Given the description of an element on the screen output the (x, y) to click on. 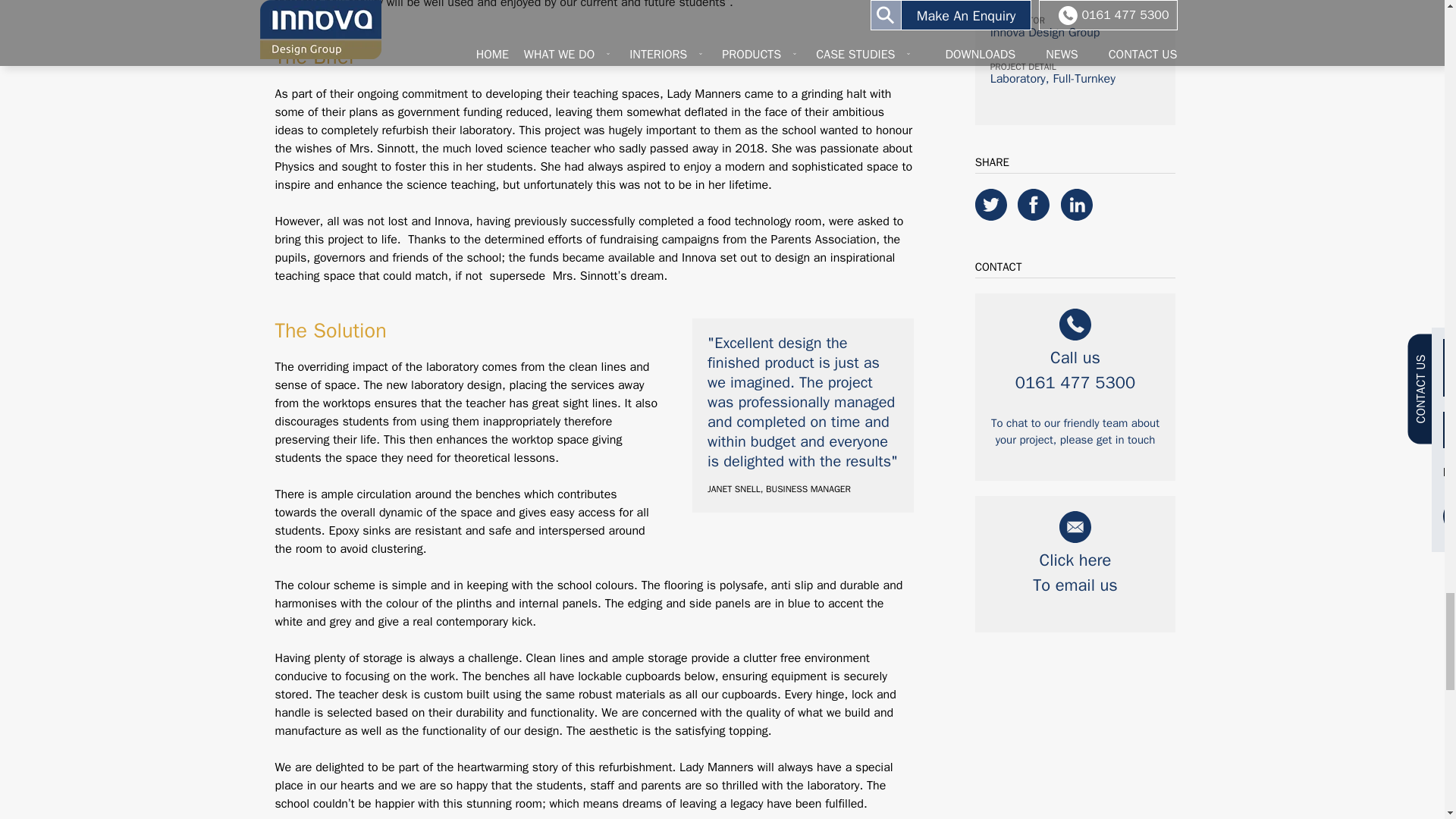
Share on Facebook (1037, 216)
Share on Twitter (996, 216)
